Given the description of an element on the screen output the (x, y) to click on. 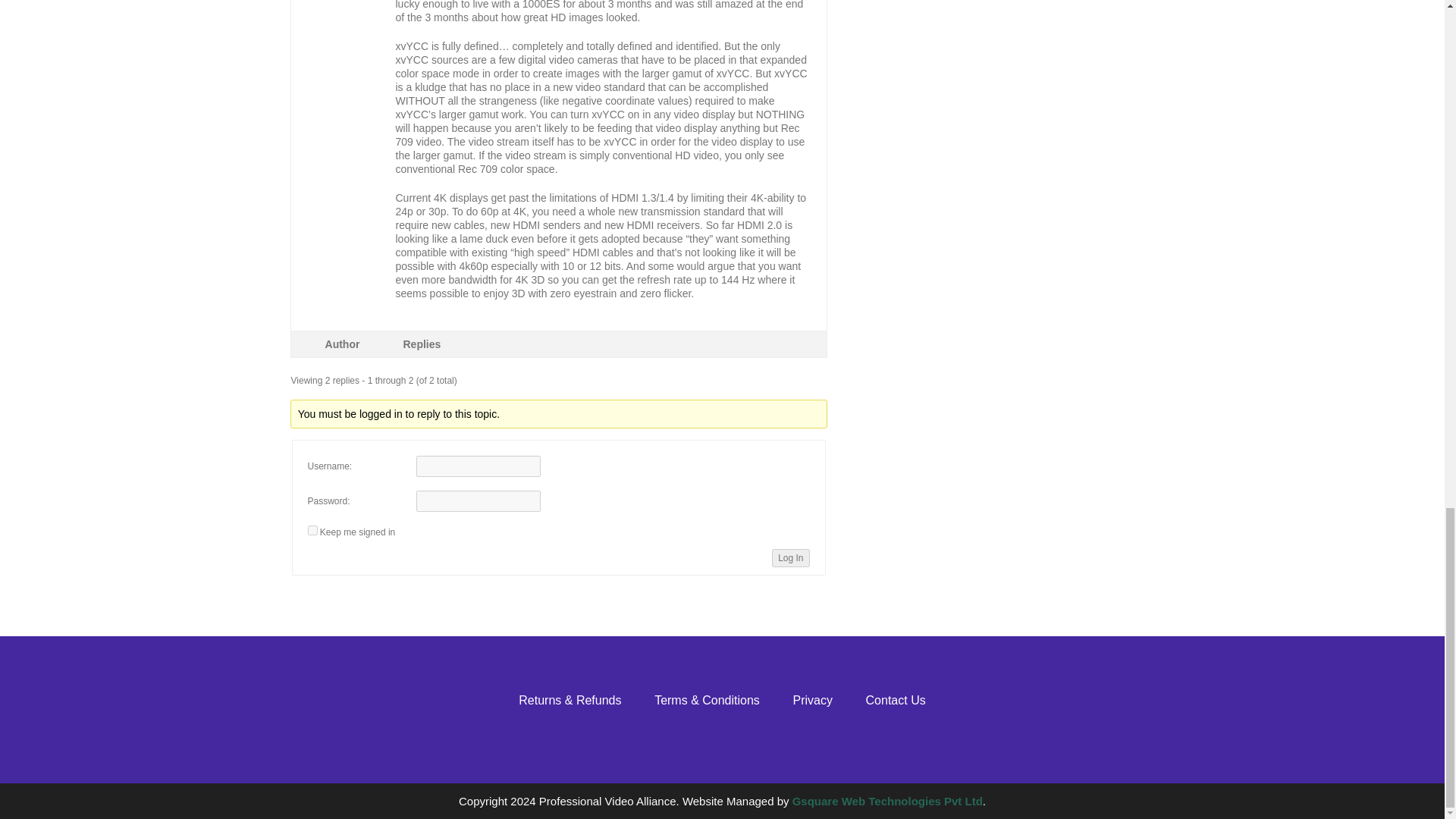
forever (312, 530)
Log In (790, 557)
